Given the description of an element on the screen output the (x, y) to click on. 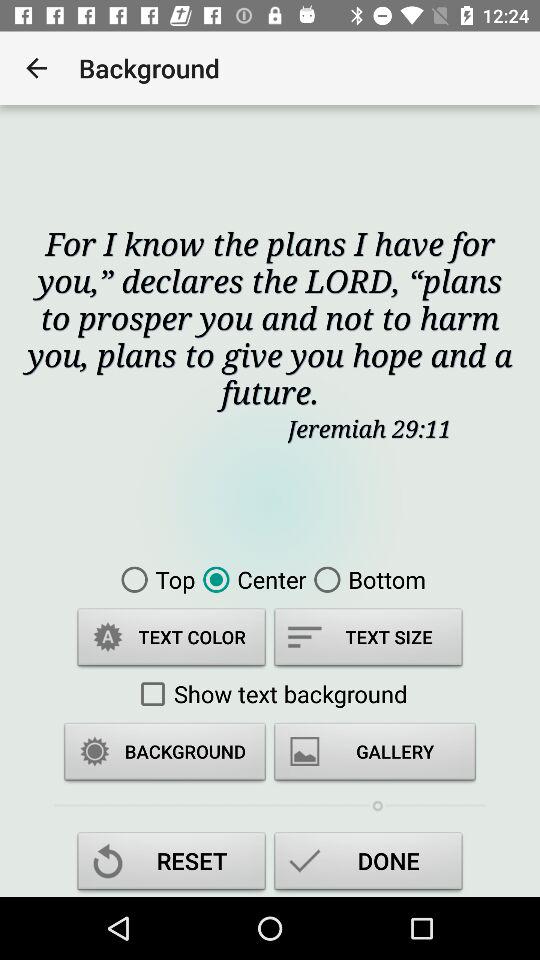
press app to the left of the background item (36, 68)
